Given the description of an element on the screen output the (x, y) to click on. 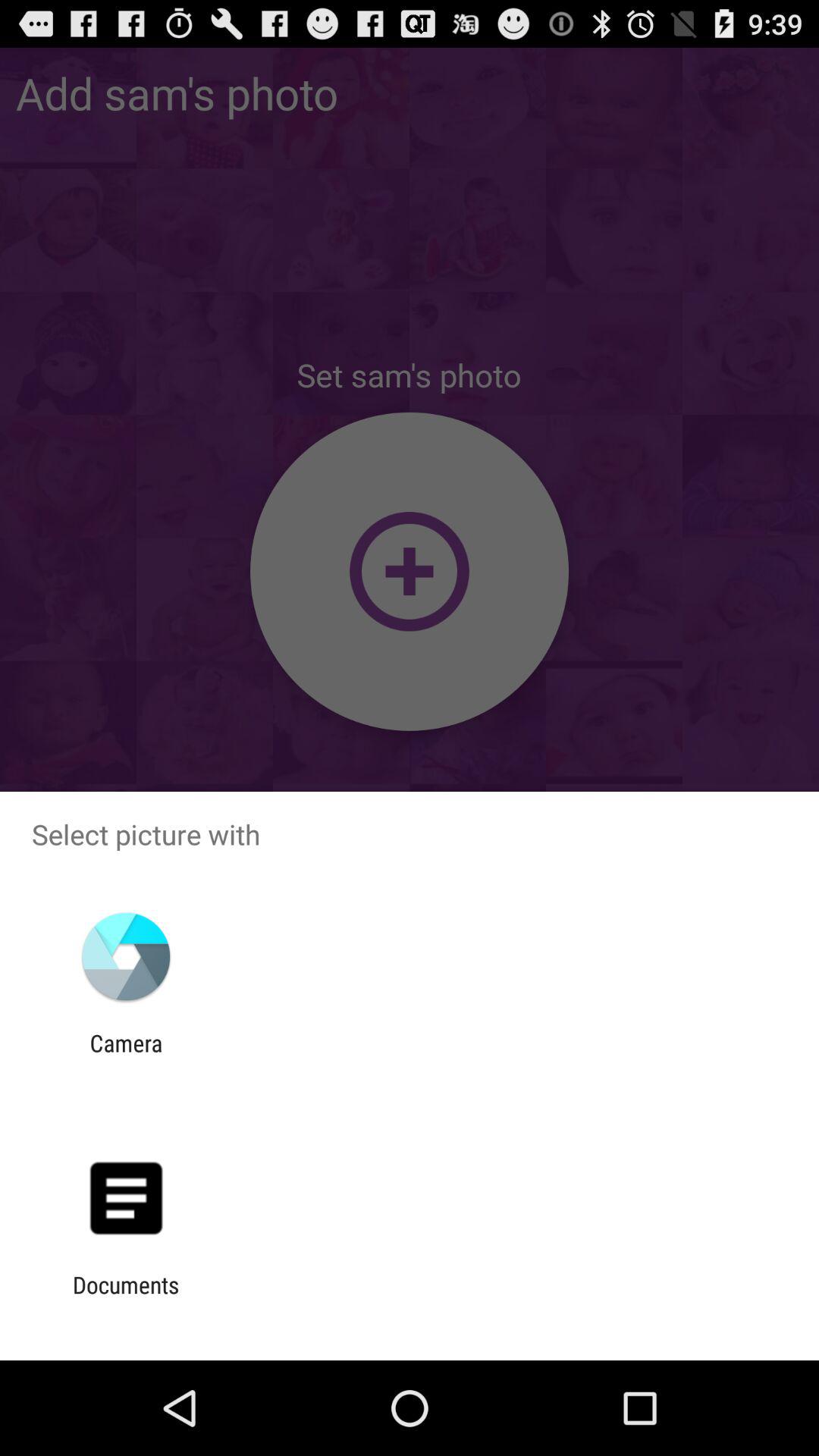
open the camera icon (125, 1056)
